Given the description of an element on the screen output the (x, y) to click on. 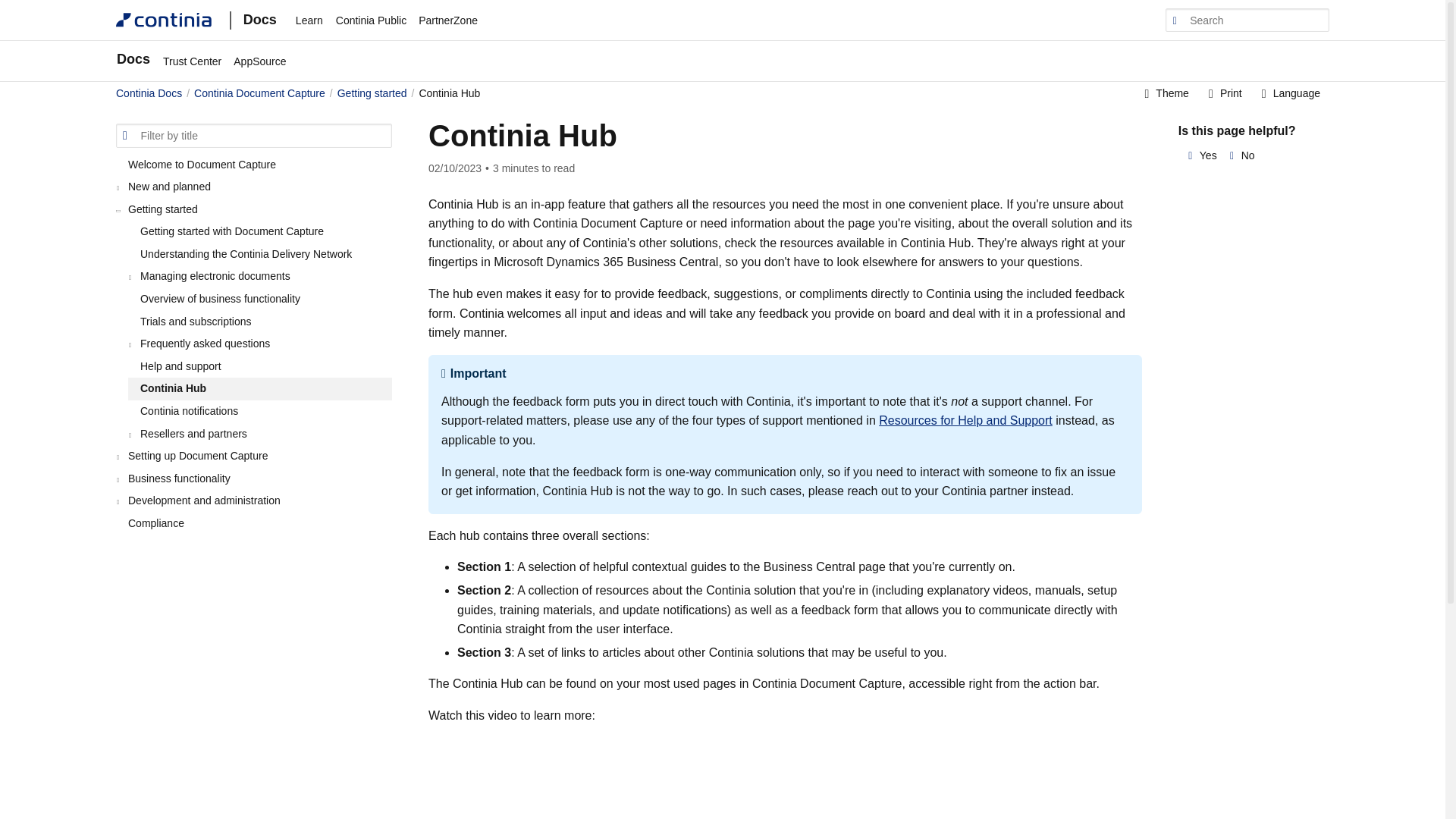
Continia Public (371, 20)
Language (1289, 93)
Getting started (372, 92)
Trust Center (192, 60)
Docs (136, 60)
Continia Docs (149, 92)
Learn (309, 20)
Print (1224, 93)
AppSource (259, 60)
Welcome to Document Capture (253, 164)
